Given the description of an element on the screen output the (x, y) to click on. 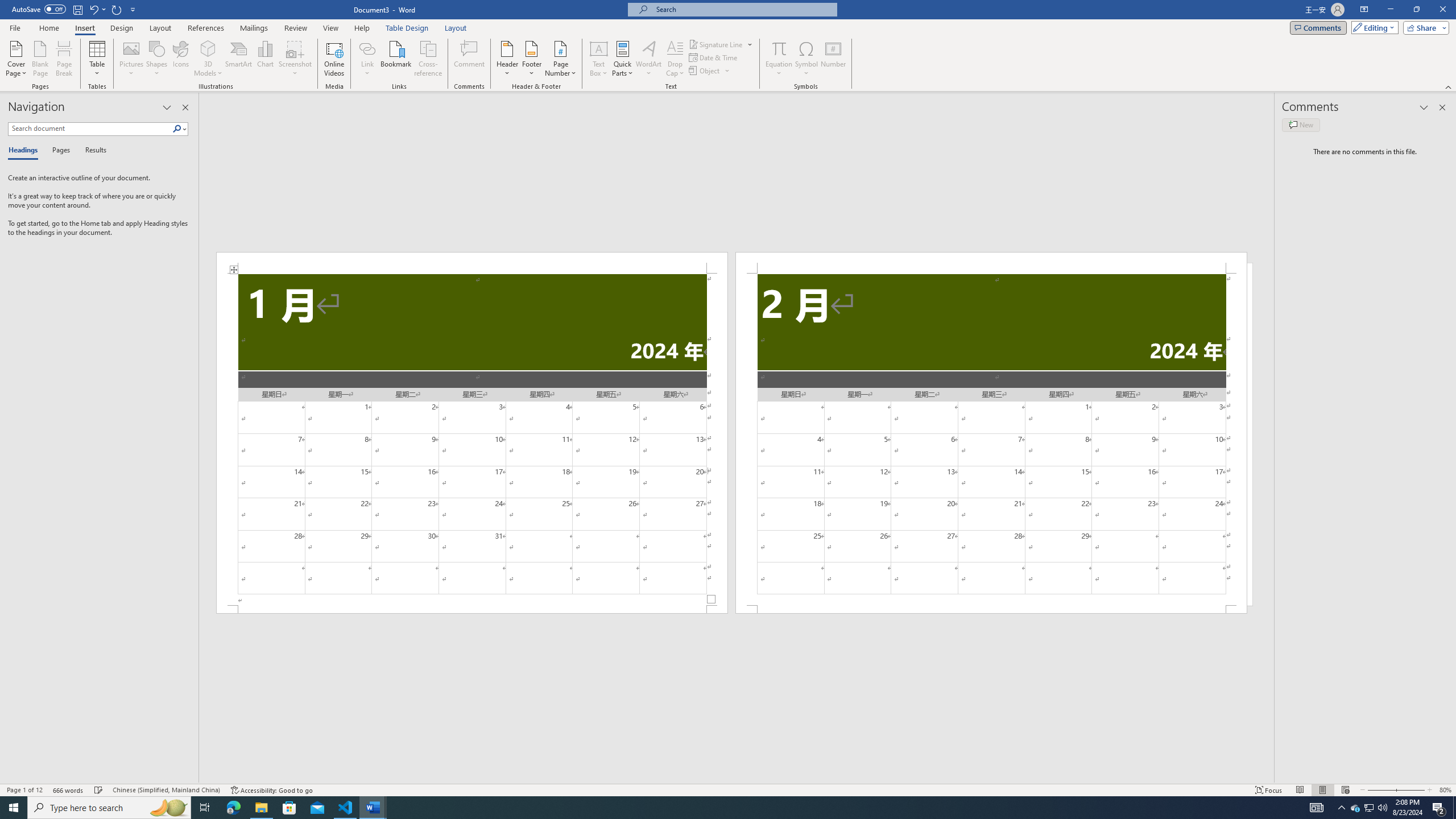
New comment (1300, 124)
Link (367, 48)
Text Box (598, 58)
Online Videos... (333, 58)
SmartArt... (238, 58)
